Given the description of an element on the screen output the (x, y) to click on. 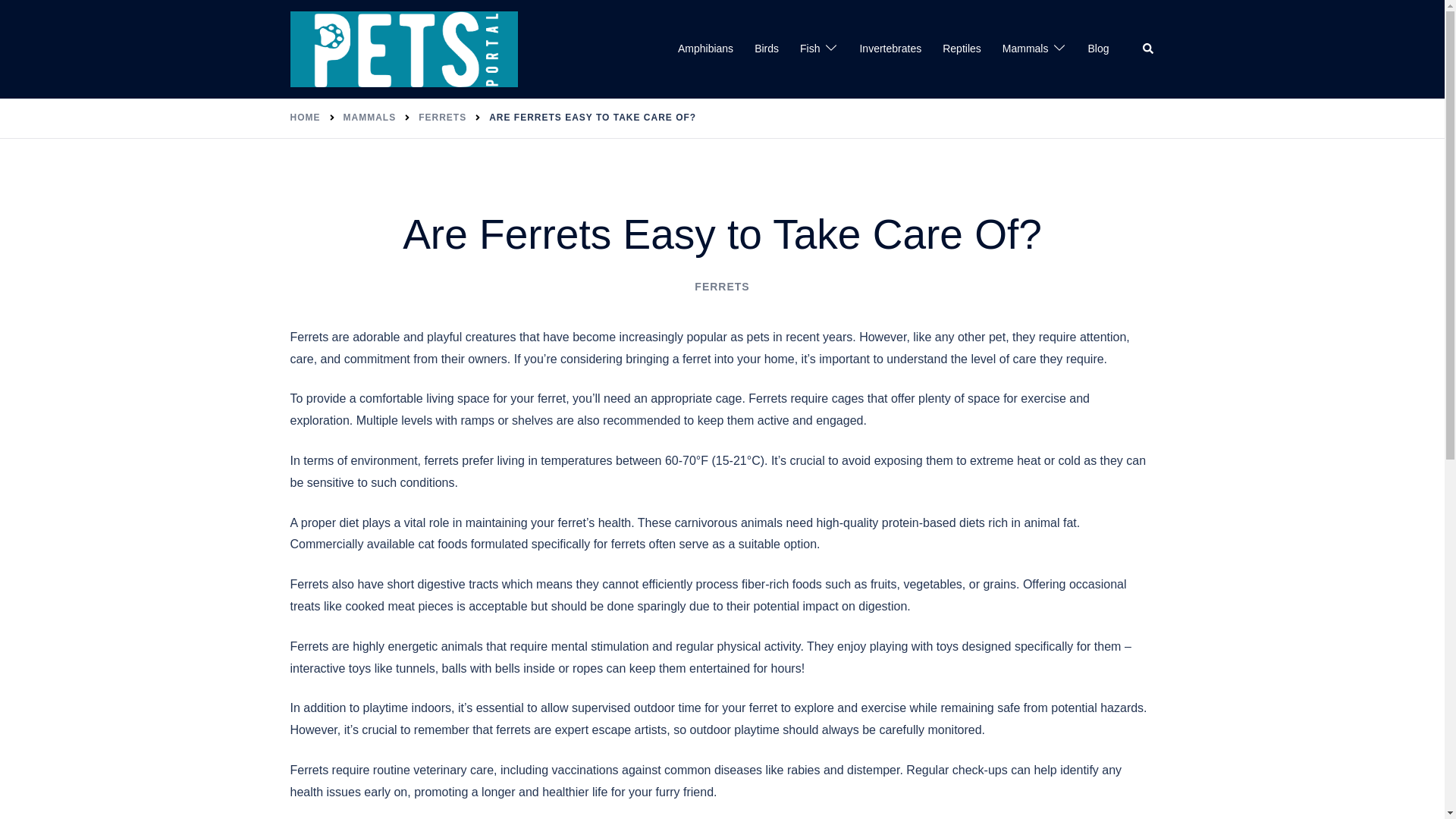
ThePetsPortal.com (402, 47)
Invertebrates (890, 48)
Birds (766, 48)
Blog (1097, 48)
Reptiles (961, 48)
Mammals (1025, 48)
Search (1147, 49)
Fish (809, 48)
Amphibians (705, 48)
